Given the description of an element on the screen output the (x, y) to click on. 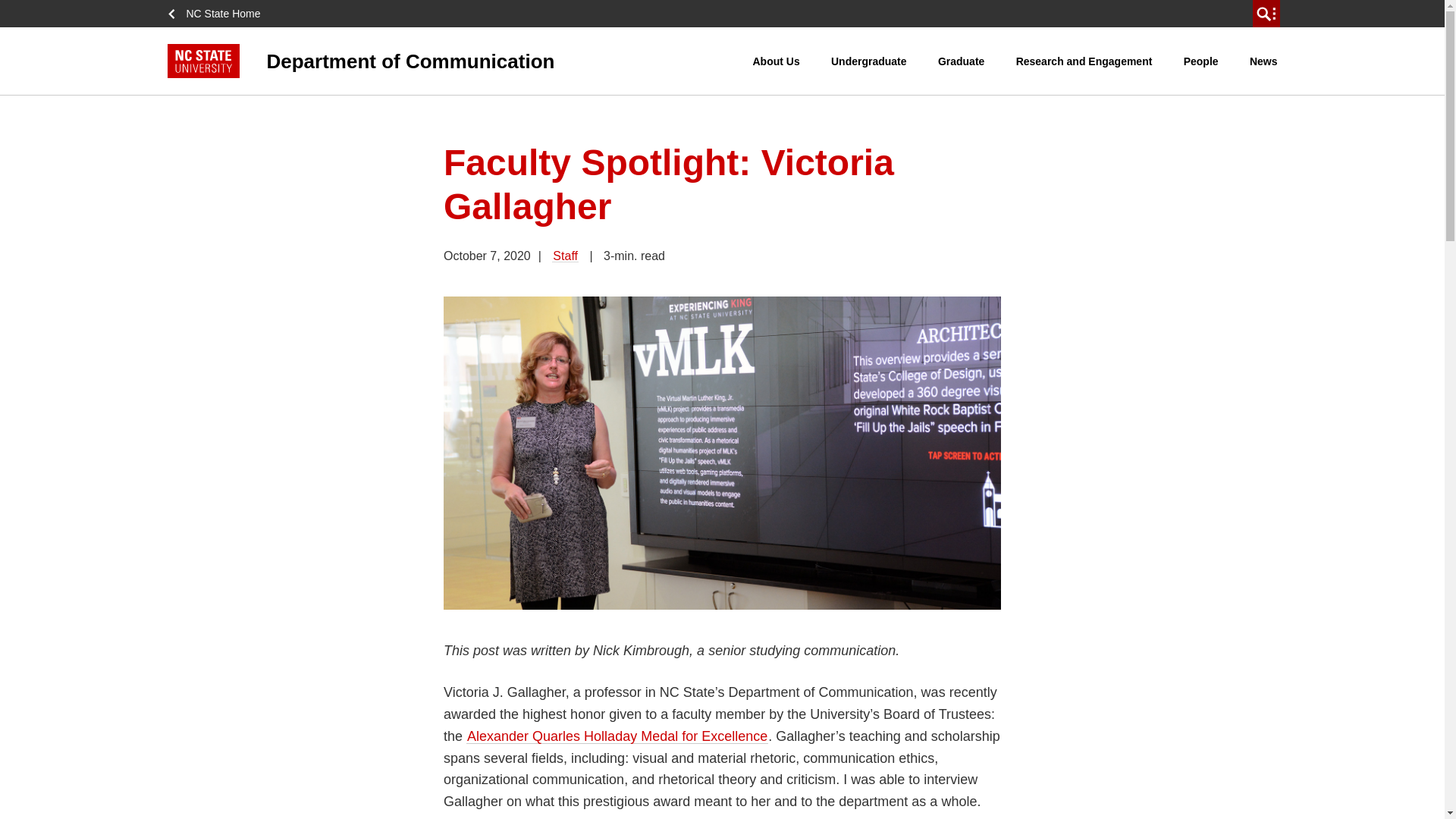
Graduate (961, 61)
Undergraduate (869, 61)
NC State Home (217, 13)
About Us (775, 61)
Department of Communication (459, 61)
Research and Engagement (1083, 61)
Posts by Staff (564, 255)
